Given the description of an element on the screen output the (x, y) to click on. 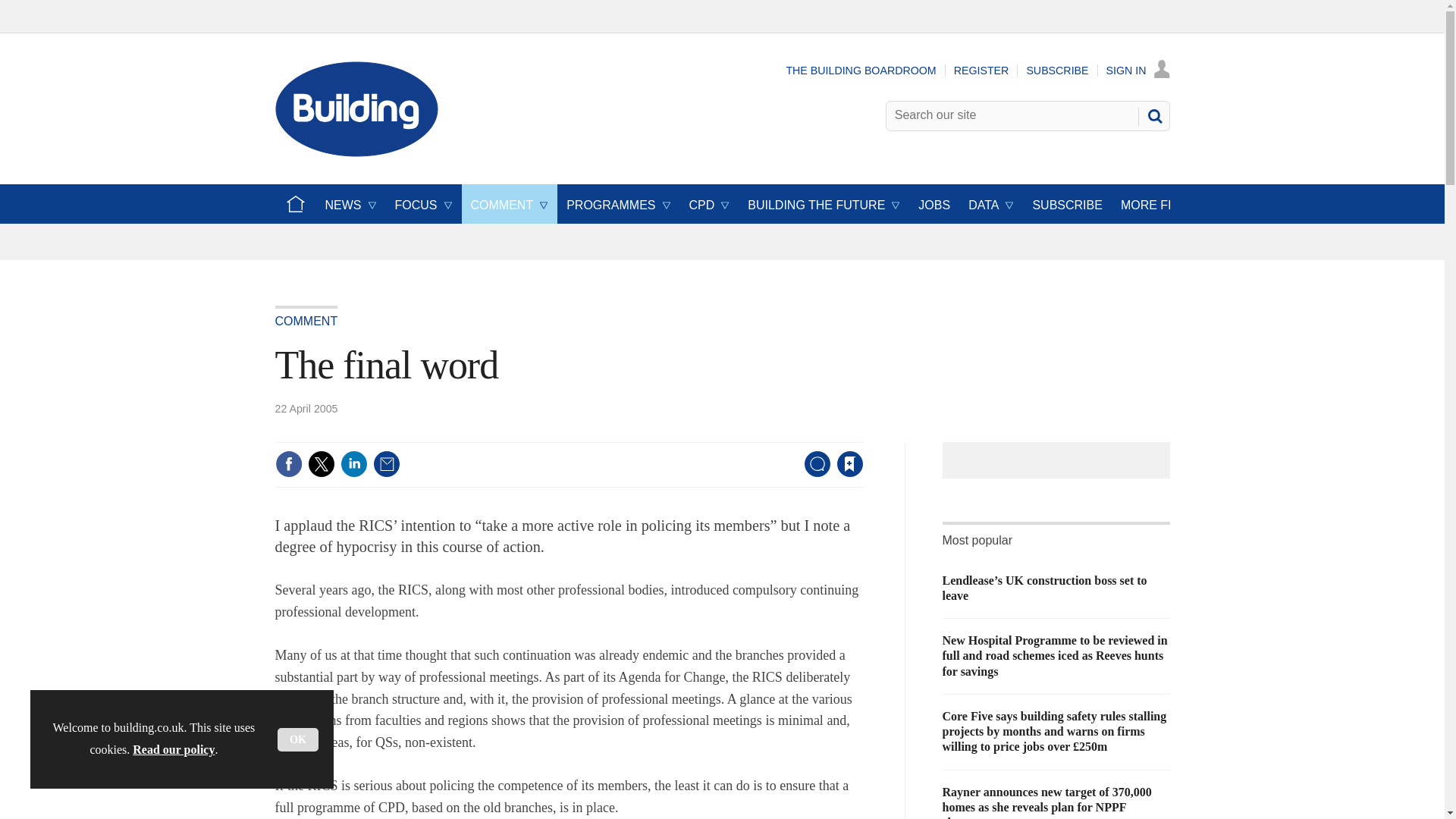
No comments (812, 473)
Insert Logo text (356, 152)
REGISTER (981, 70)
THE BUILDING BOARDROOM (861, 70)
SIGN IN (1138, 70)
Share this on Twitter (320, 463)
Share this on Facebook (288, 463)
Email this article (386, 463)
Share this on Linked in (352, 463)
SUBSCRIBE (1056, 70)
SEARCH (1153, 115)
Read our policy (173, 748)
OK (298, 739)
